Given the description of an element on the screen output the (x, y) to click on. 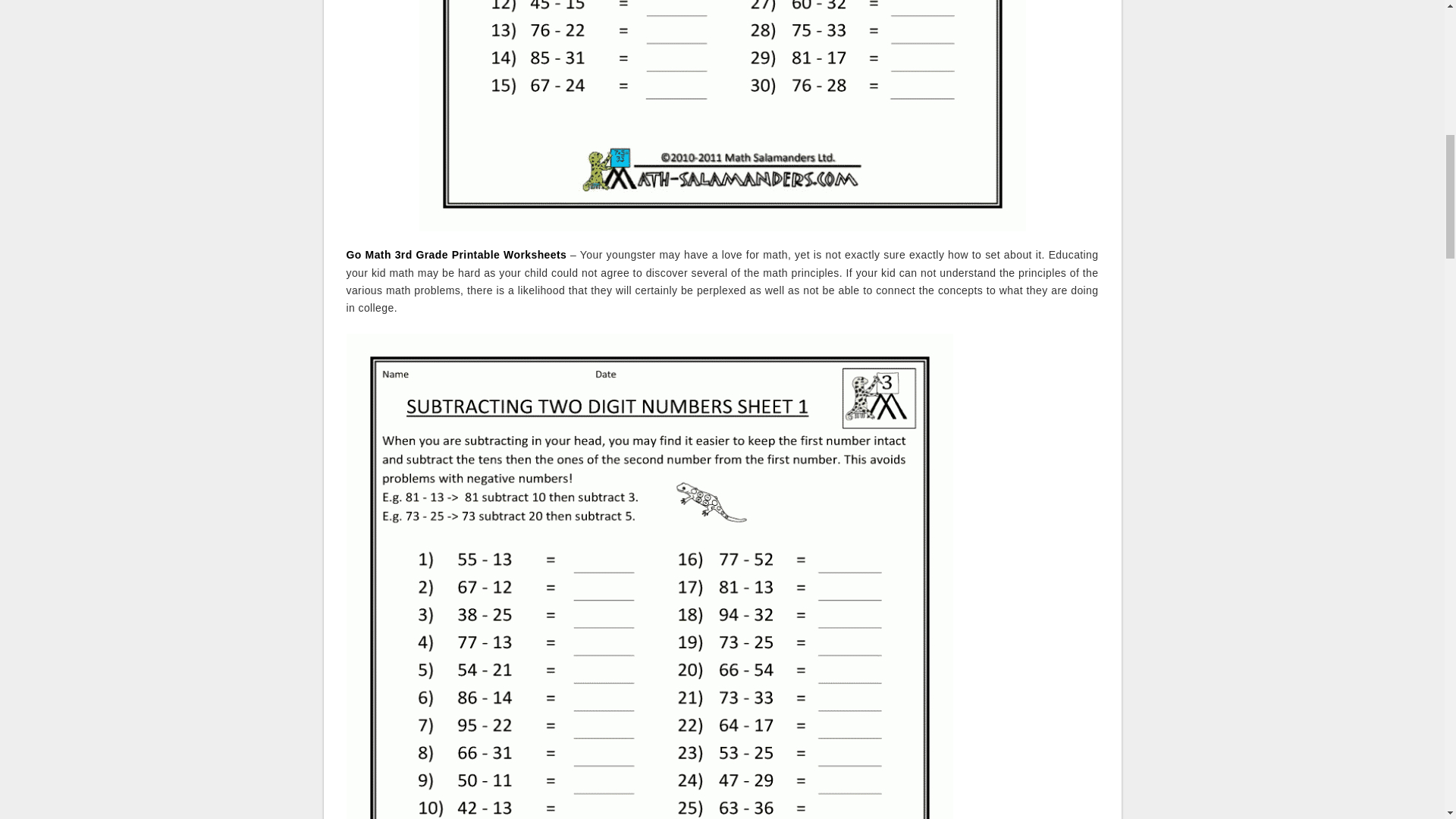
Go Math 3rd Grade Printable Worksheets (456, 254)
